Given the description of an element on the screen output the (x, y) to click on. 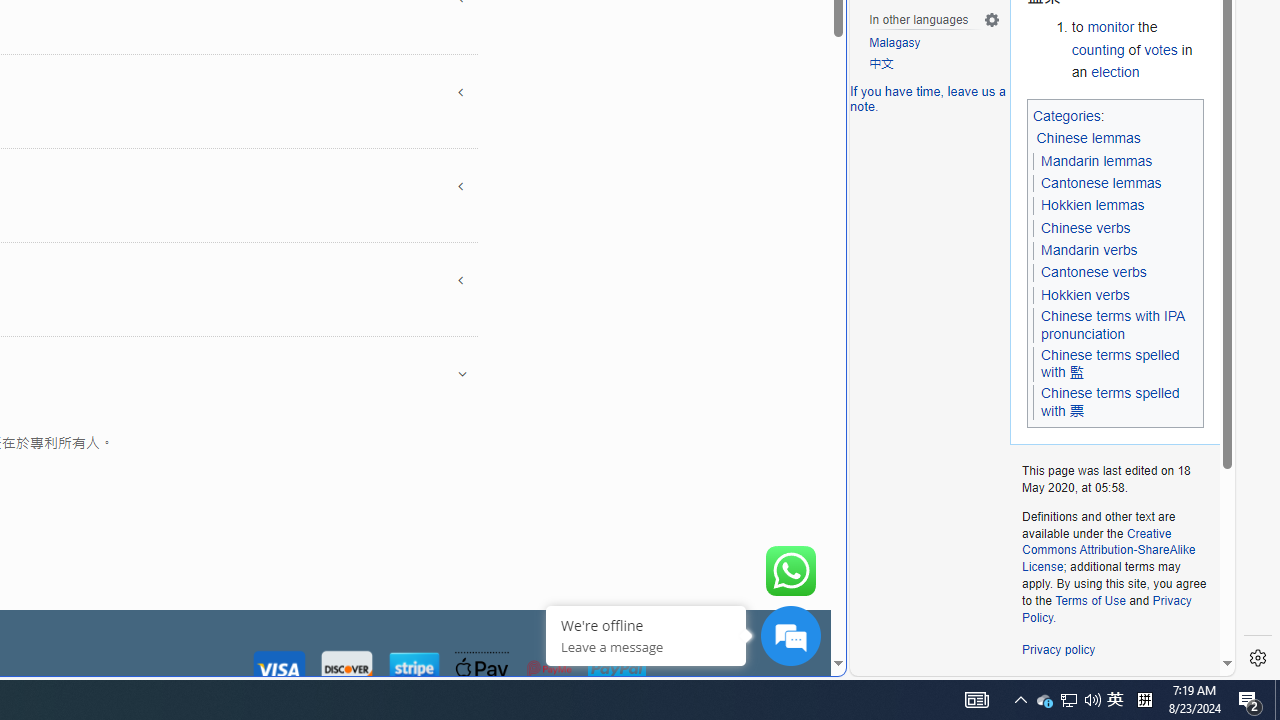
MSN (687, 223)
Mandarin verbs (1088, 250)
Global web icon (888, 663)
Cantonese verbs (1093, 273)
Disclaimers (1154, 686)
Cantonese verbs (1093, 272)
votes (1160, 49)
counting (1098, 49)
Hokkien verbs (1085, 294)
Chinese terms with IPA pronunciation (1112, 325)
Chinese terms with IPA pronunciation (1115, 326)
